Given the description of an element on the screen output the (x, y) to click on. 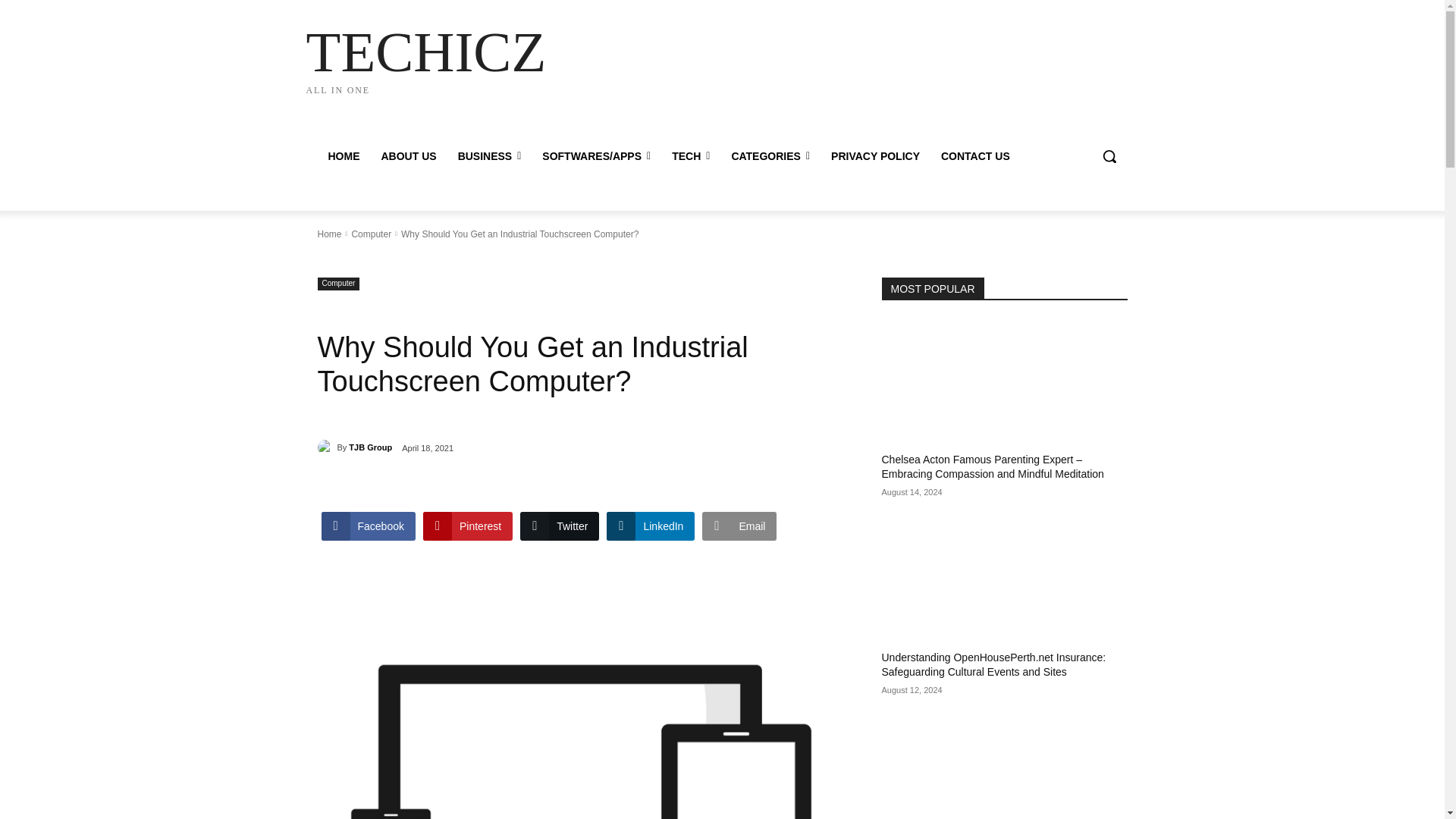
ABOUT US (407, 156)
TECHICZ (425, 58)
BUSINESS (489, 156)
HOME (425, 58)
